Given the description of an element on the screen output the (x, y) to click on. 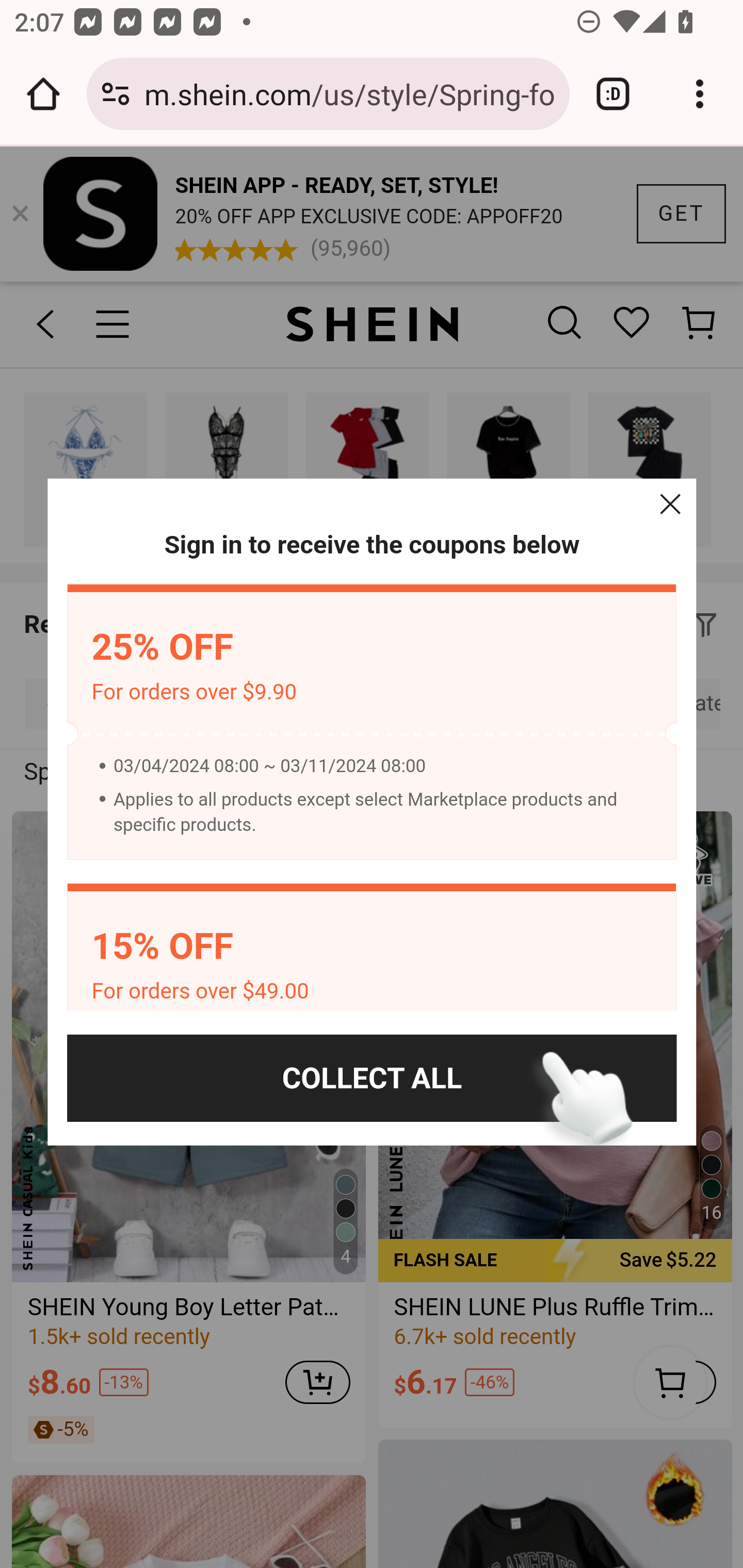
Open the home page (43, 93)
Connection is secure (115, 93)
Switch or close tabs (612, 93)
Customize and control Google Chrome (699, 93)
Close (669, 503)
COLLECT ALL (371, 1077)
